Given the description of an element on the screen output the (x, y) to click on. 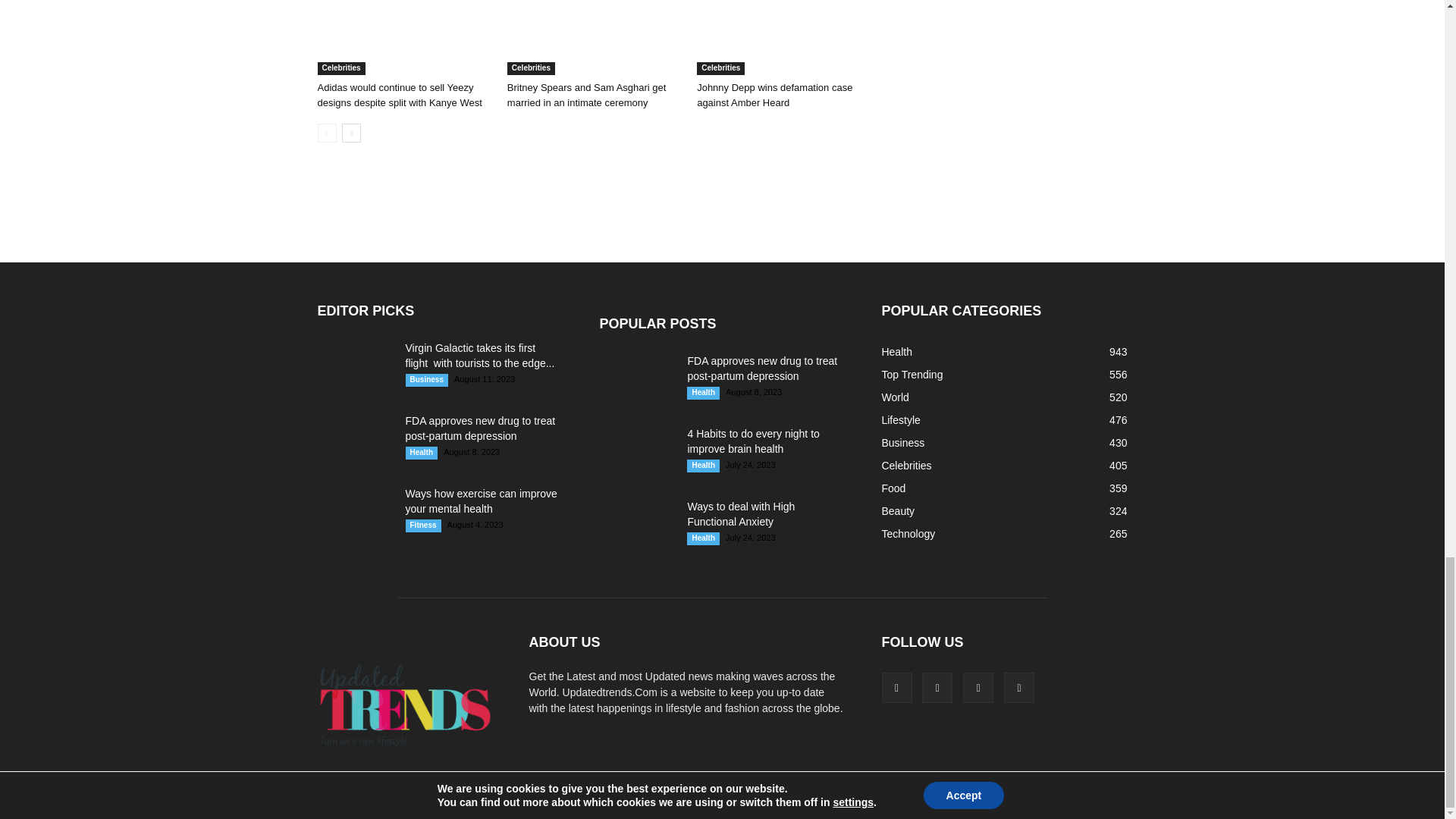
Johnny Depp wins defamation case against Amber Heard (783, 37)
Johnny Depp wins defamation case against Amber Heard (774, 94)
